Given the description of an element on the screen output the (x, y) to click on. 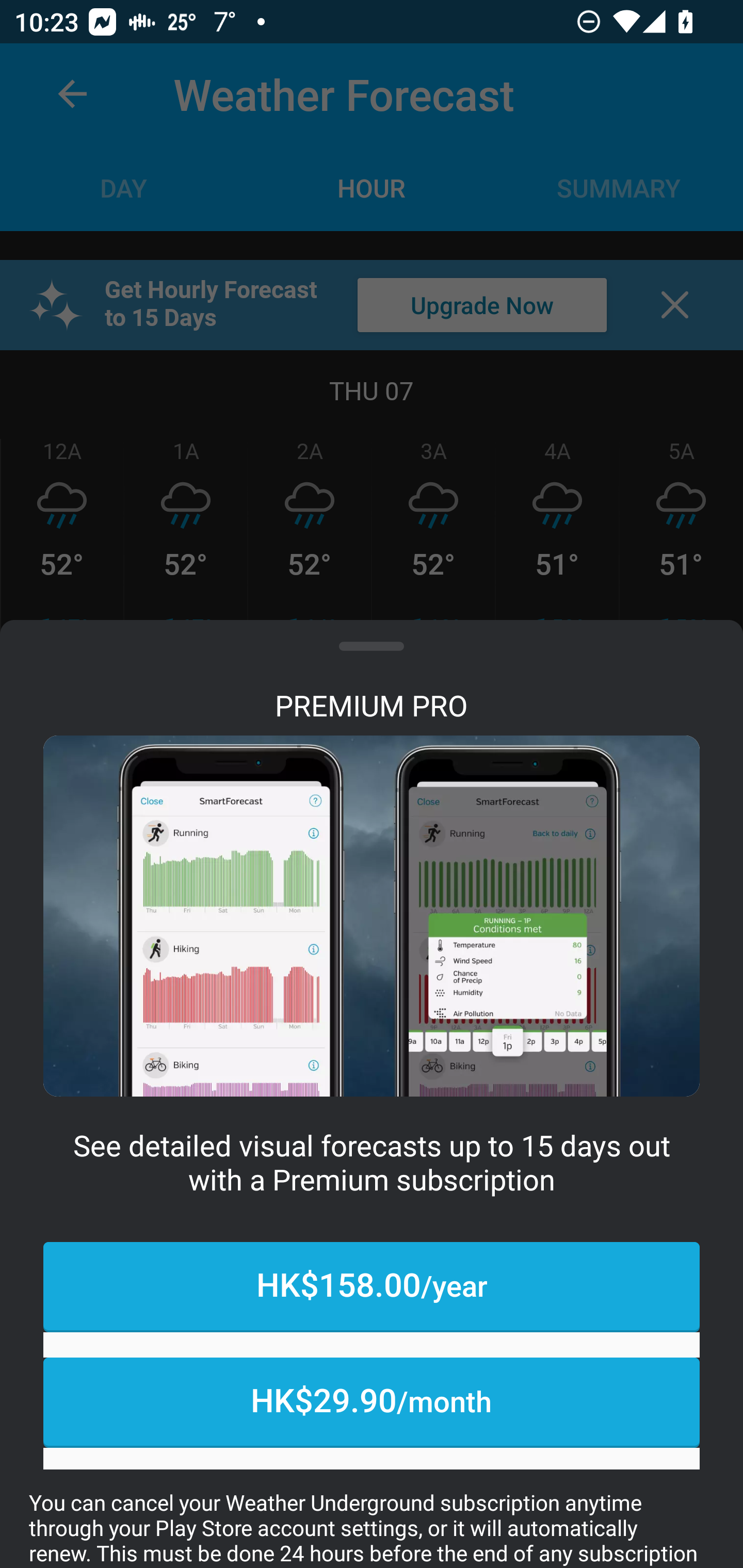
show full description (371, 653)
PREMIUM PRO (371, 704)
HK$158.00/year (371, 1286)
HK$29.90/month (371, 1402)
